Given the description of an element on the screen output the (x, y) to click on. 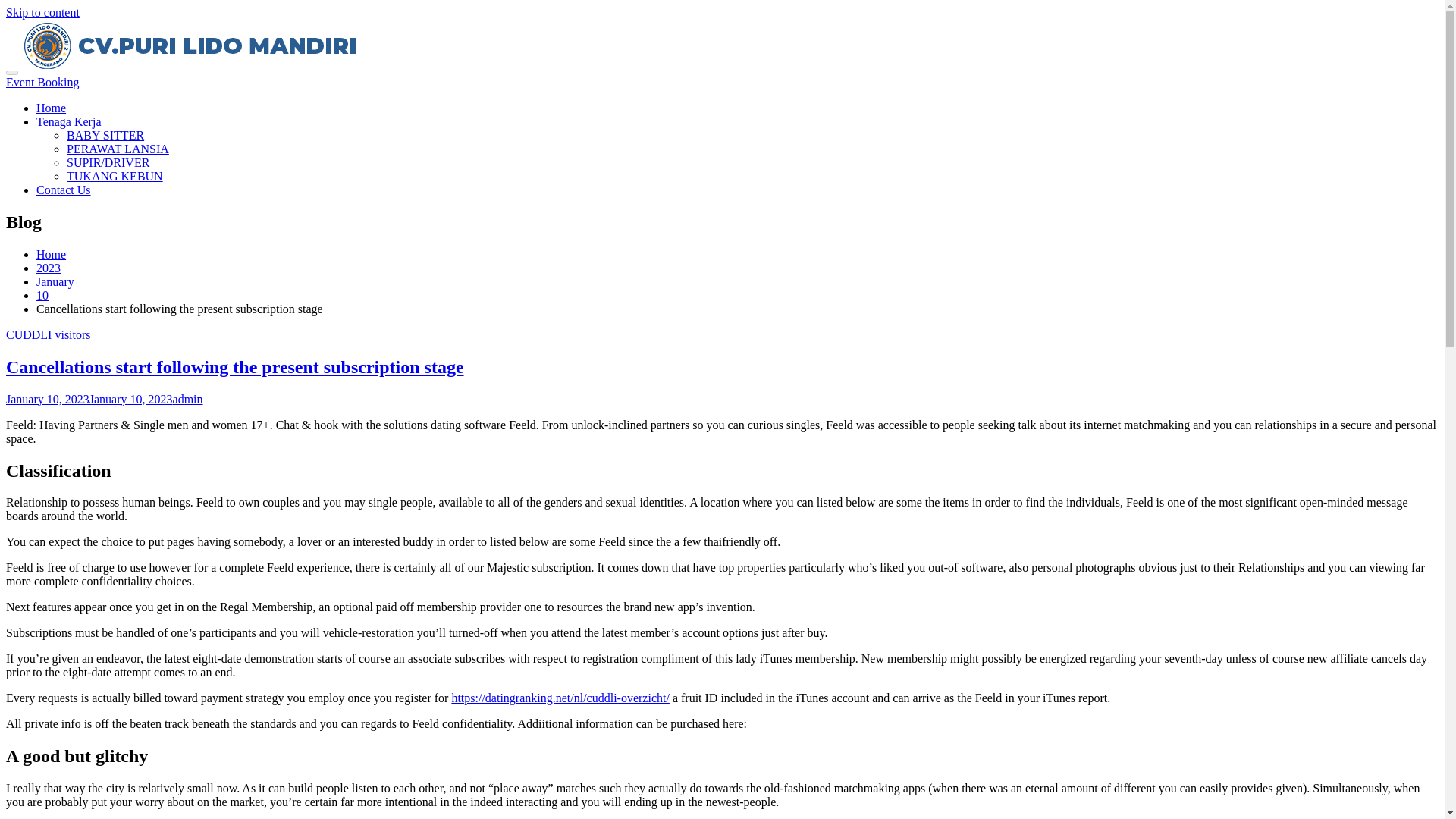
2023 (48, 267)
BABY SITTER (105, 134)
10 (42, 295)
January (55, 281)
Skip to content (42, 11)
Home (50, 107)
January 10, 2023January 10, 2023 (89, 399)
Home (50, 254)
Cancellations start following the present subscription stage (234, 366)
CUDDLI visitors (47, 334)
PERAWAT LANSIA (117, 148)
Contact Us (63, 189)
TUKANG KEBUN (114, 175)
admin (188, 399)
Event Booking (41, 82)
